Given the description of an element on the screen output the (x, y) to click on. 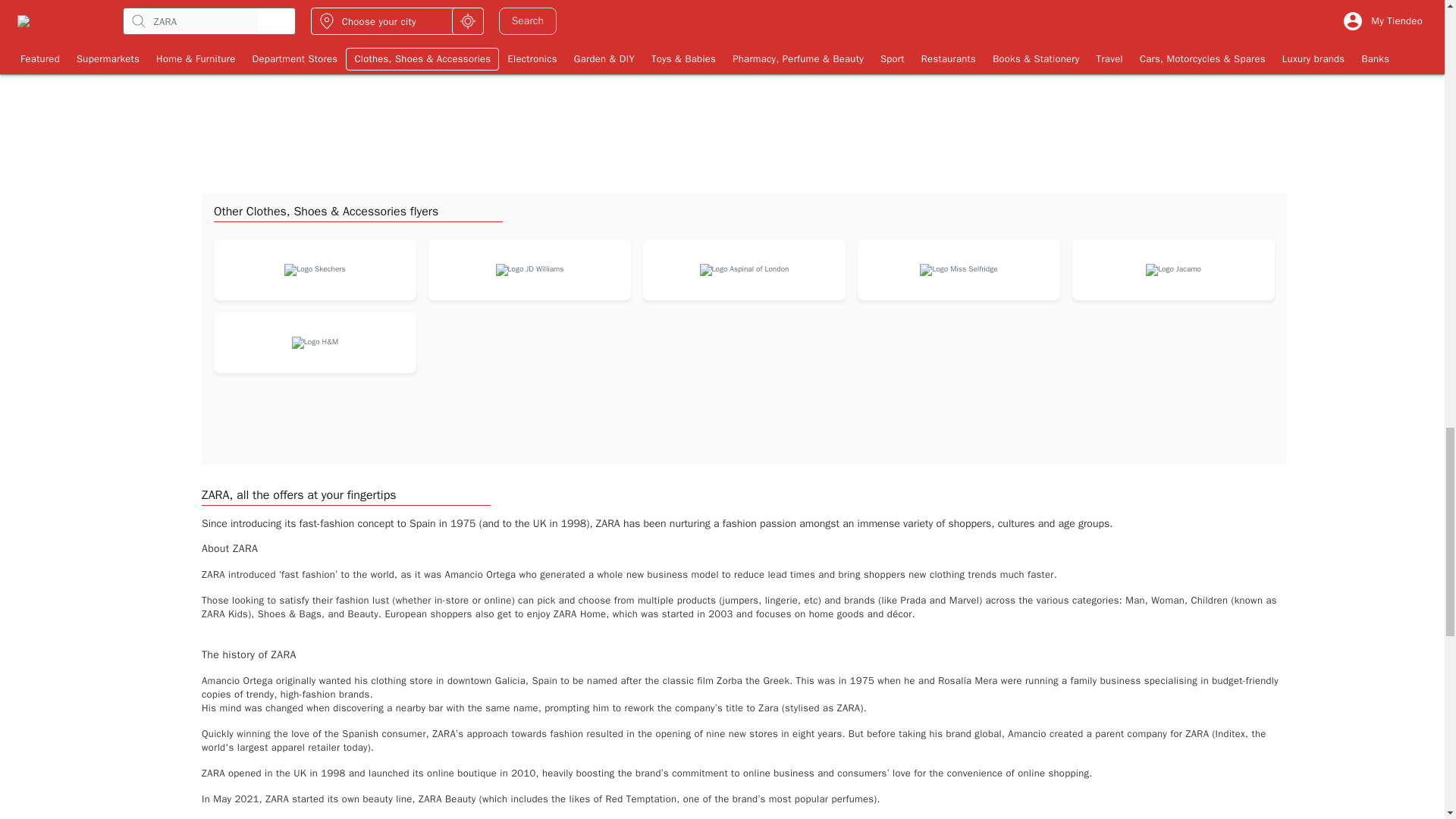
Logo Jacamo (1173, 269)
Logo JD Williams (530, 269)
Logo Skechers (314, 269)
Logo Miss Selfridge (958, 269)
Logo Aspinal of London (744, 269)
